Given the description of an element on the screen output the (x, y) to click on. 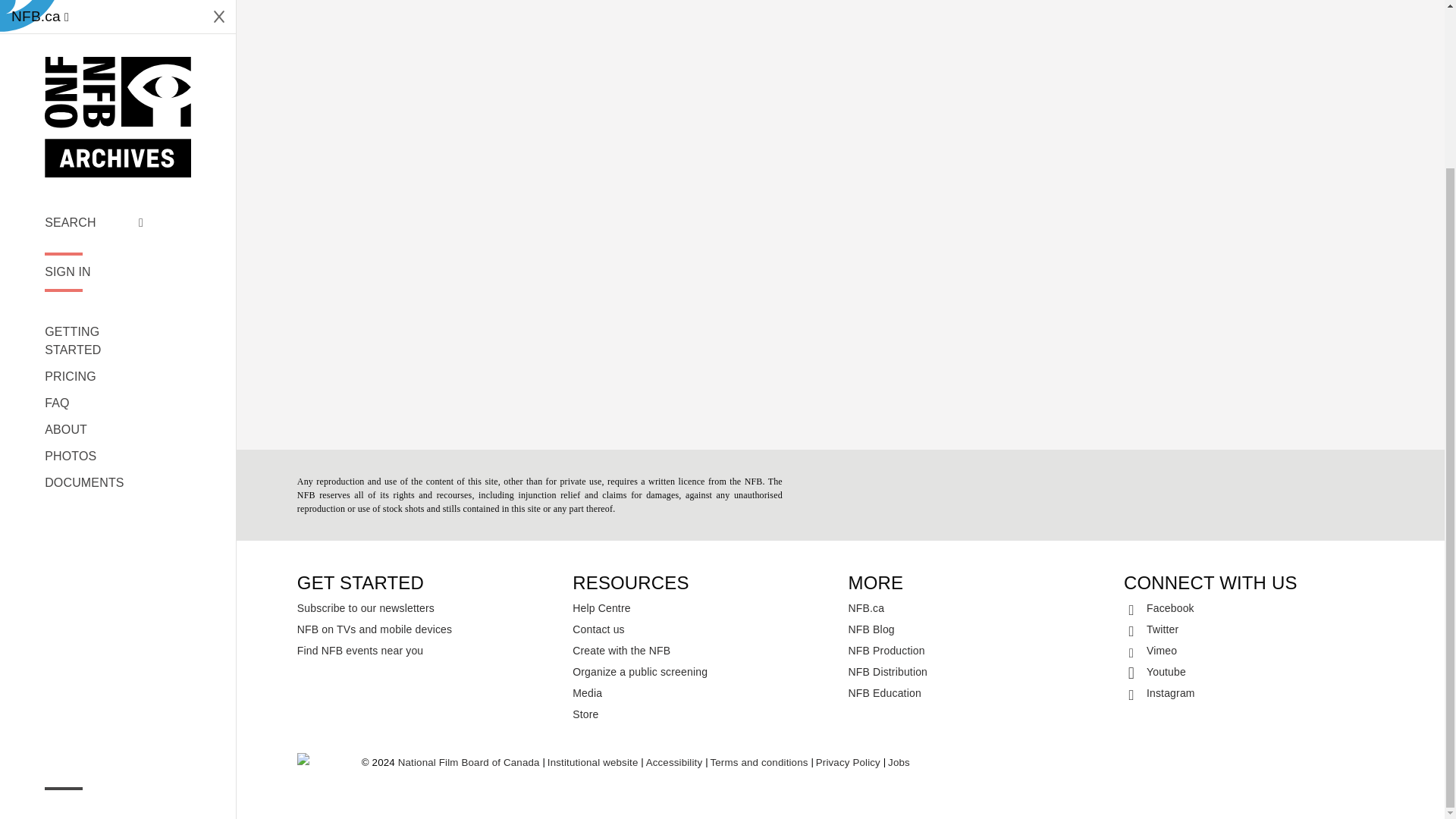
National Film Board of Canada (468, 762)
ABOUT (93, 229)
Contact us (702, 629)
Youtube (1254, 671)
PHOTOS (93, 255)
NFB Distribution (978, 671)
Facebook (1254, 608)
PRICING (93, 176)
NFB Blog (978, 629)
Find NFB events near you (427, 649)
Canada (321, 762)
Store (702, 713)
SEARCH (93, 22)
FAQ (93, 202)
Institutional website (593, 762)
